Given the description of an element on the screen output the (x, y) to click on. 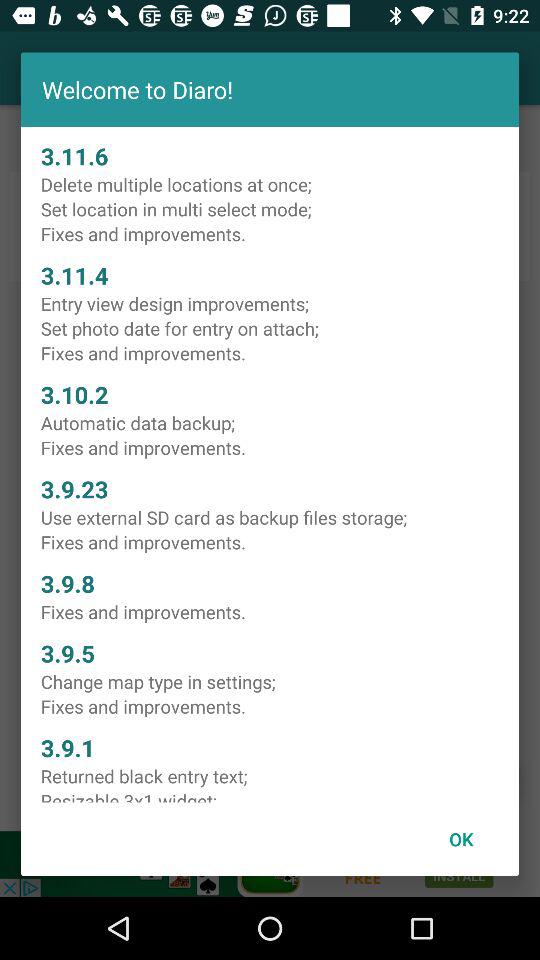
launch icon below resizable 3x1 widget; app (461, 838)
